Given the description of an element on the screen output the (x, y) to click on. 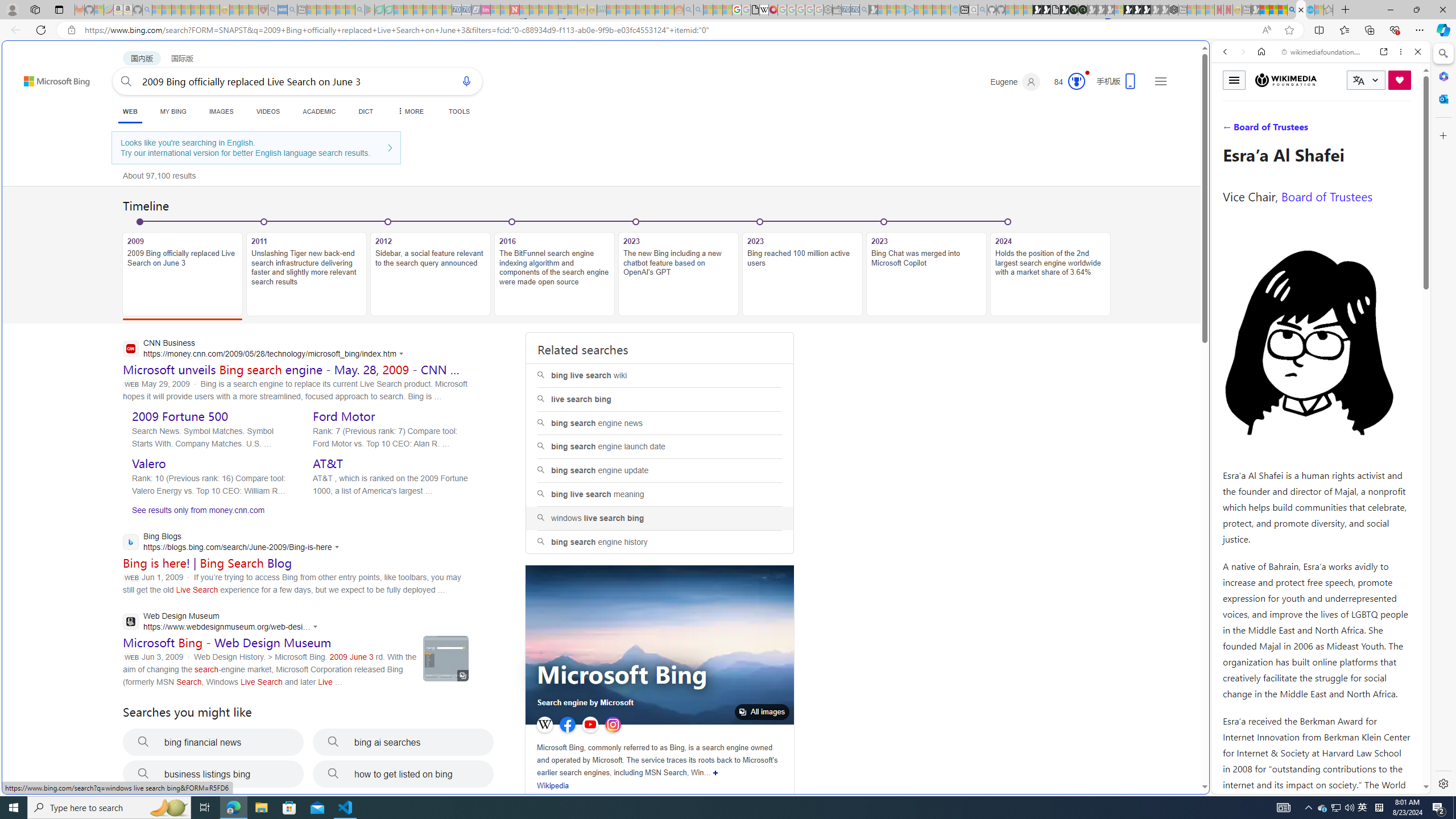
AutomationID: mfa_root (1161, 752)
bing live search meaning (659, 494)
Preferences (1403, 129)
Wikipedia (553, 785)
